Given the description of an element on the screen output the (x, y) to click on. 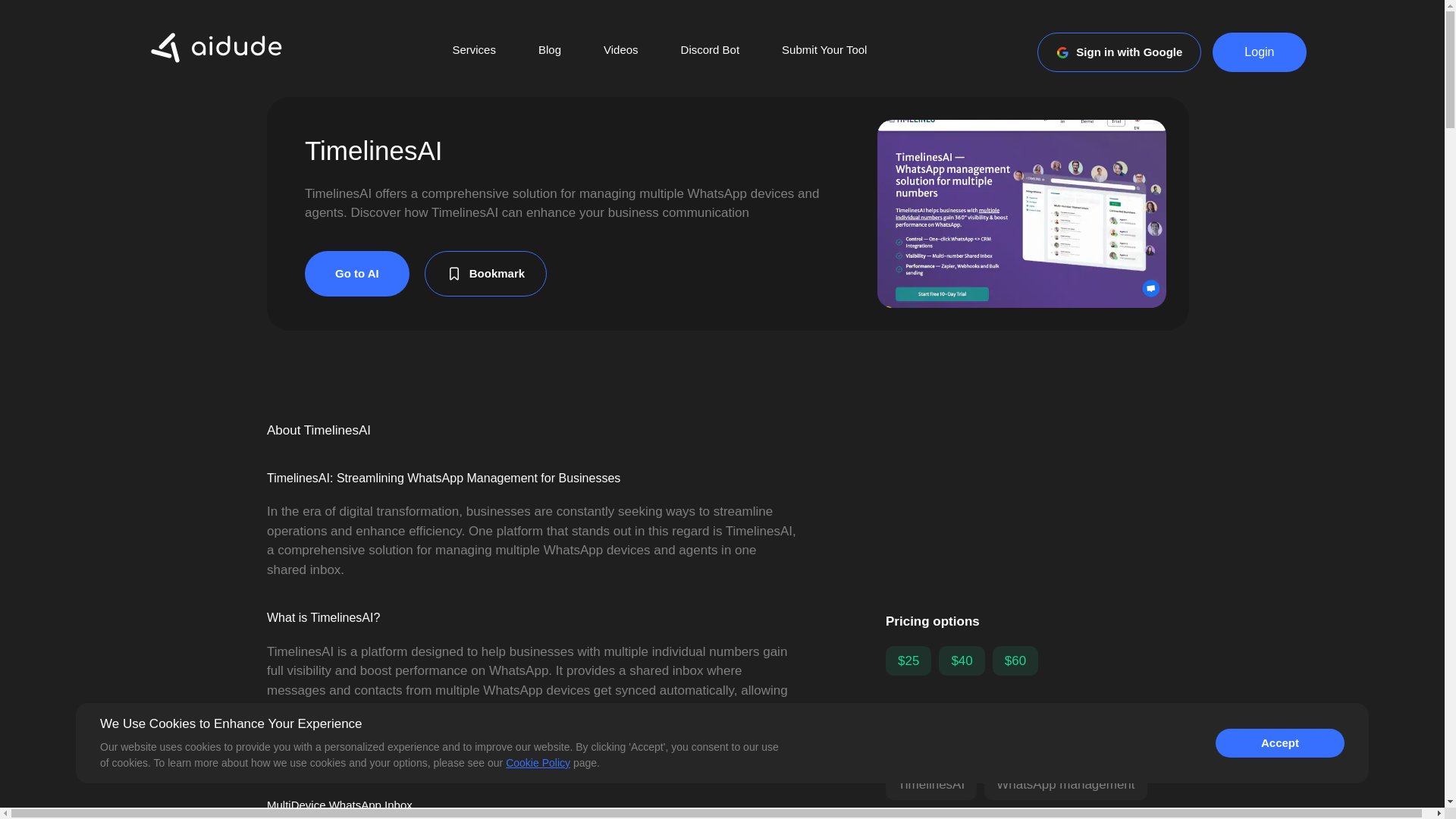
Sign in with Google (1118, 52)
Login (1259, 52)
business communication (968, 813)
Videos (620, 52)
Blog (549, 52)
AI tools (1091, 813)
TimelinesAI (930, 784)
Discord Bot (710, 52)
Submit Your Tool (824, 52)
Advertisement (1037, 497)
Go to AI (356, 272)
Services (473, 52)
WhatsApp management (1065, 784)
